Given the description of an element on the screen output the (x, y) to click on. 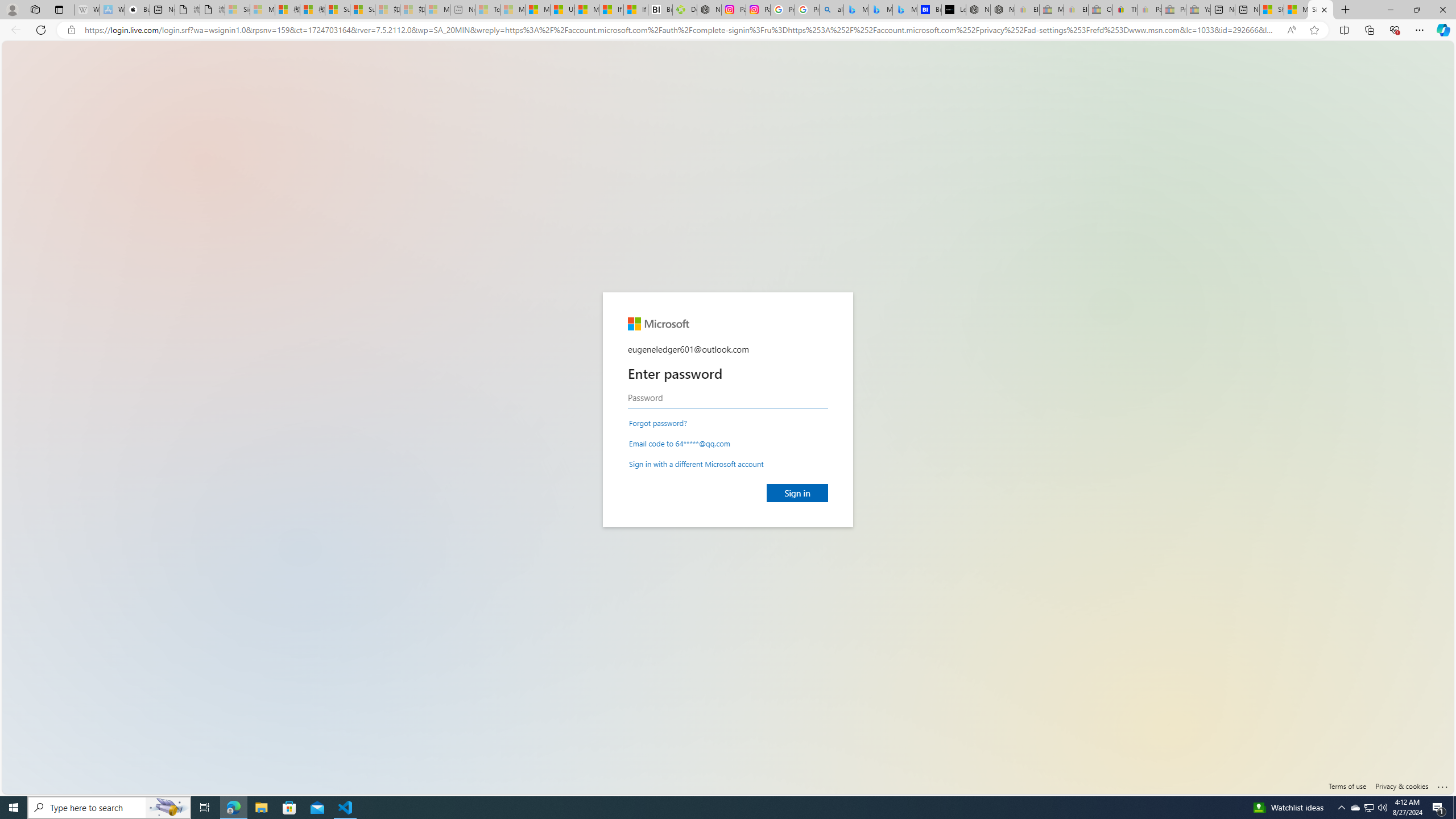
Terms of use (1347, 785)
Microsoft Bing Travel - Flights from Hong Kong to Bangkok (855, 9)
Threats and offensive language policy | eBay (1124, 9)
Sign in with a different Microsoft account (696, 463)
Top Stories - MSN - Sleeping (487, 9)
